Given the description of an element on the screen output the (x, y) to click on. 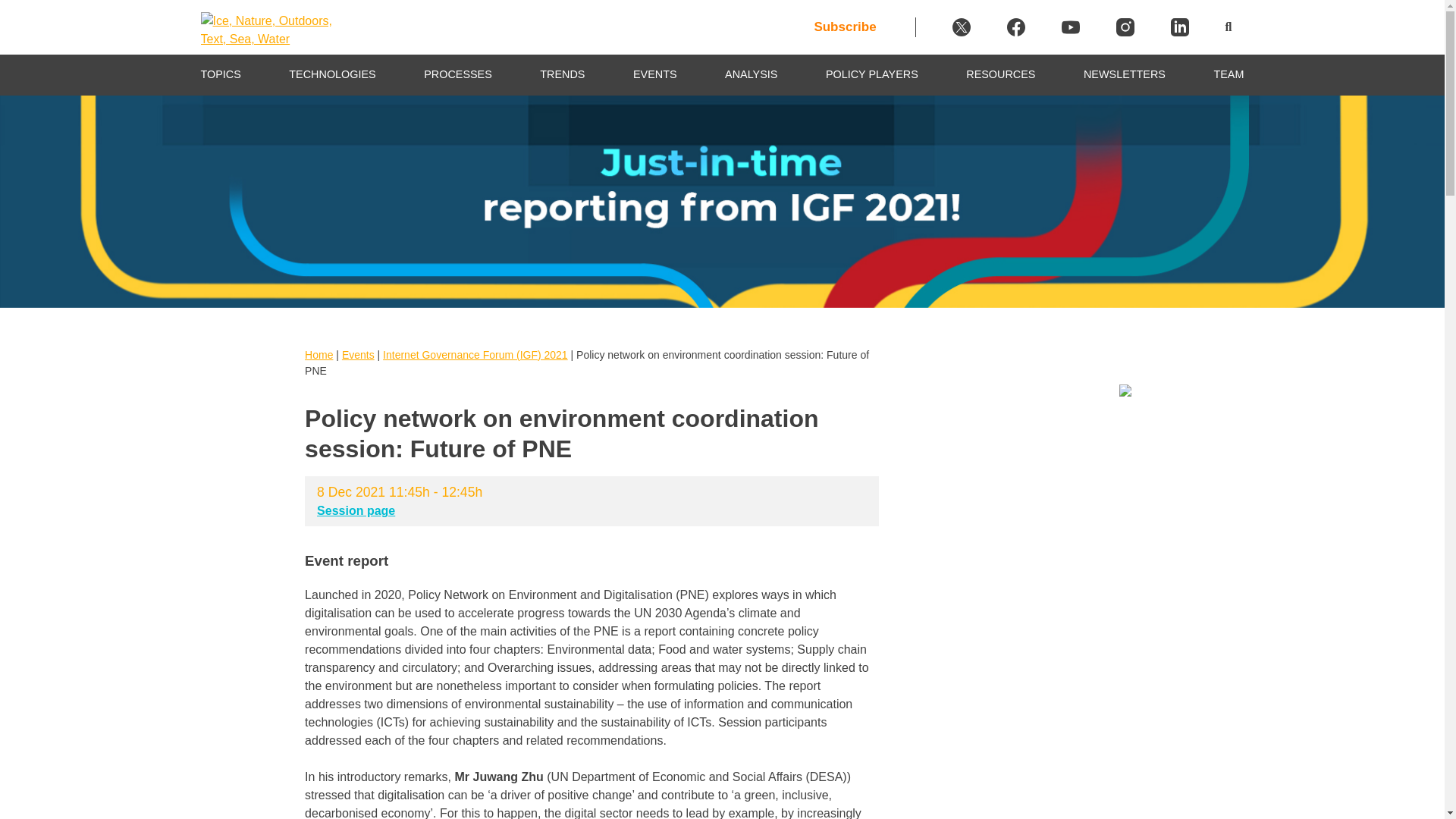
Digital Watch Observatory (270, 56)
Subscribe (864, 26)
TOPICS (220, 74)
